Given the description of an element on the screen output the (x, y) to click on. 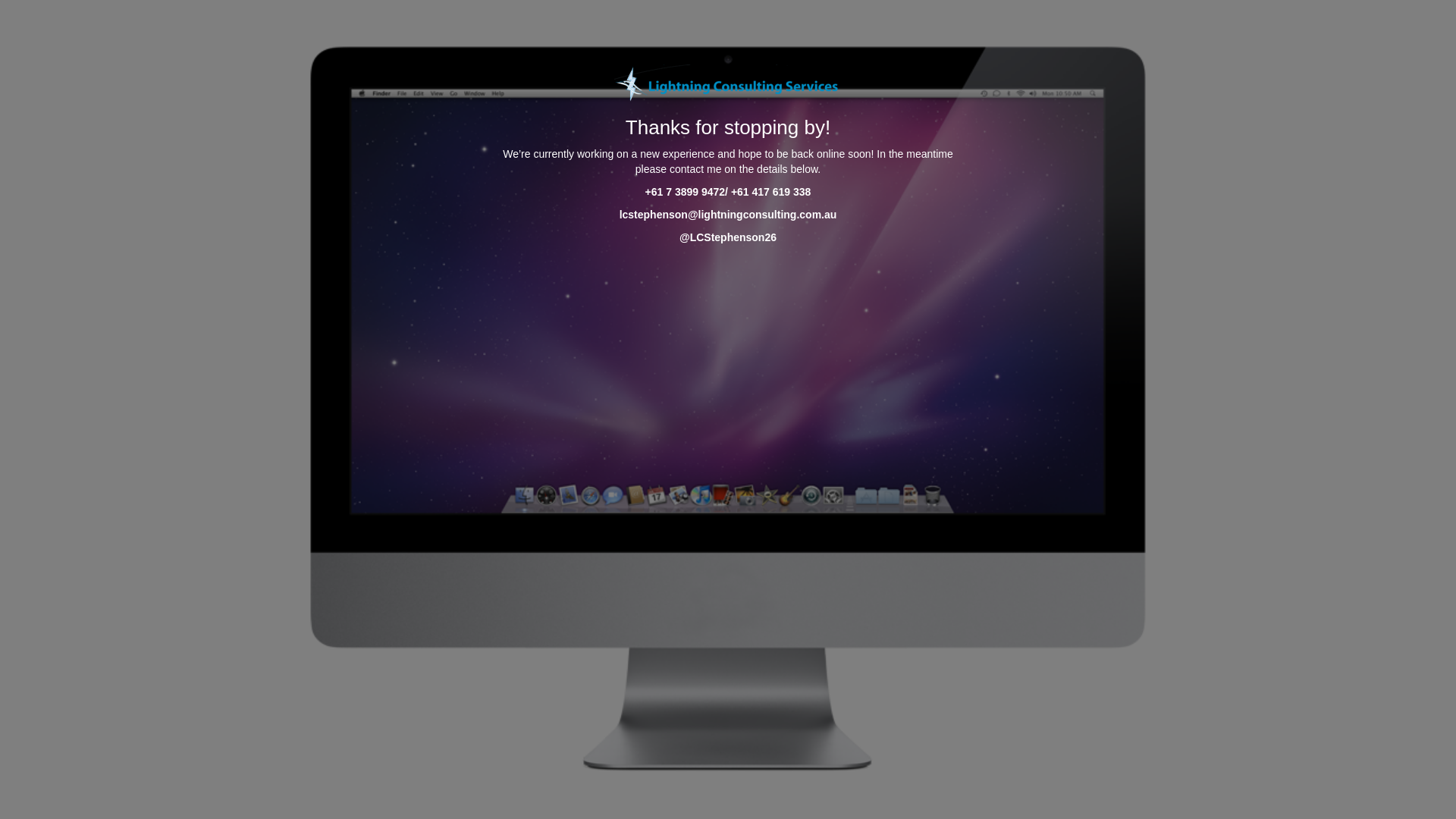
lcstephenson@lightningconsulting.com.au Element type: text (728, 214)
